Given the description of an element on the screen output the (x, y) to click on. 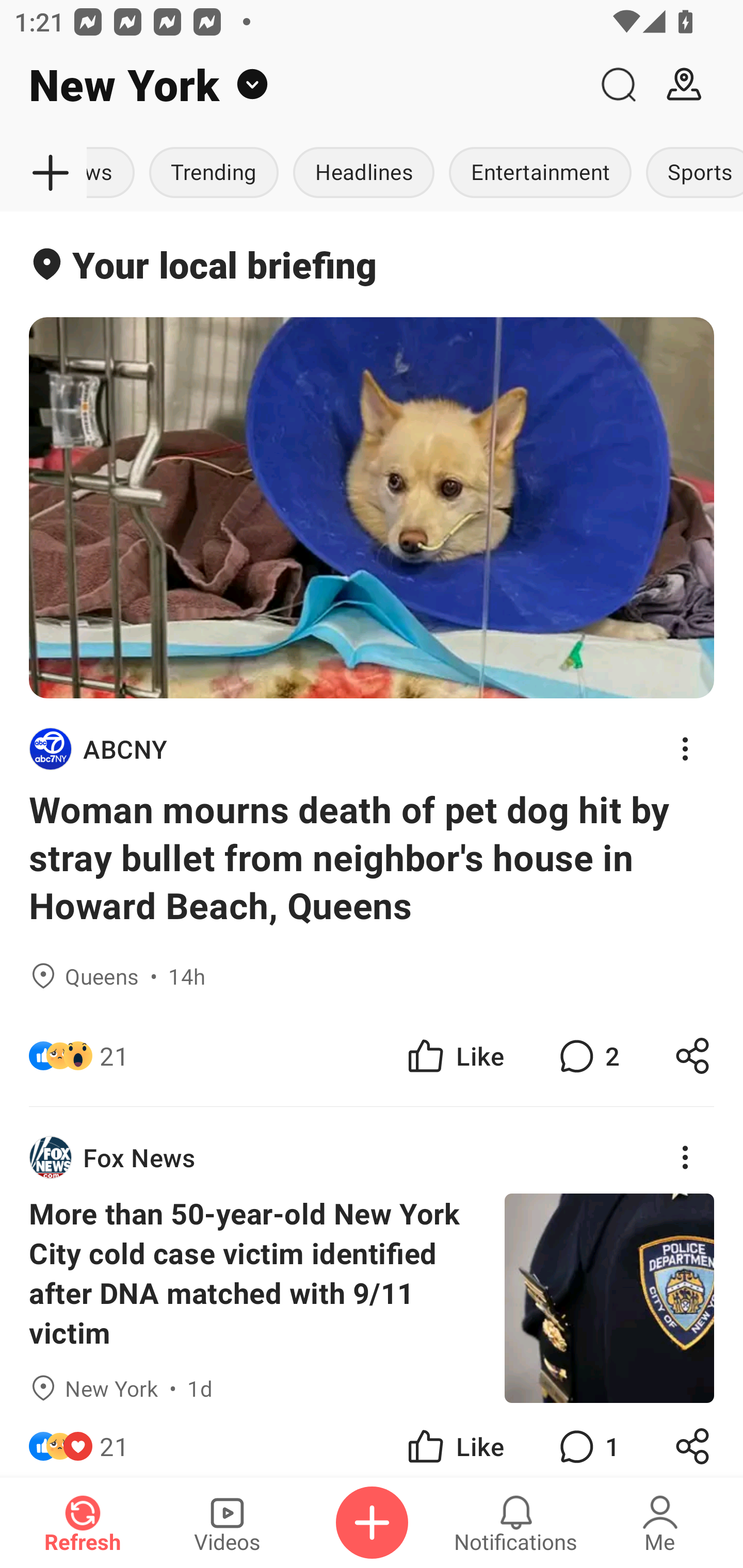
New York (292, 84)
World News (113, 172)
Trending (213, 172)
Headlines (363, 172)
Entertainment (539, 172)
Sports (690, 172)
21 (114, 1055)
Like (454, 1055)
2 (587, 1055)
21 (114, 1440)
Like (454, 1440)
1 (587, 1440)
Videos (227, 1522)
Notifications (516, 1522)
Me (659, 1522)
